Given the description of an element on the screen output the (x, y) to click on. 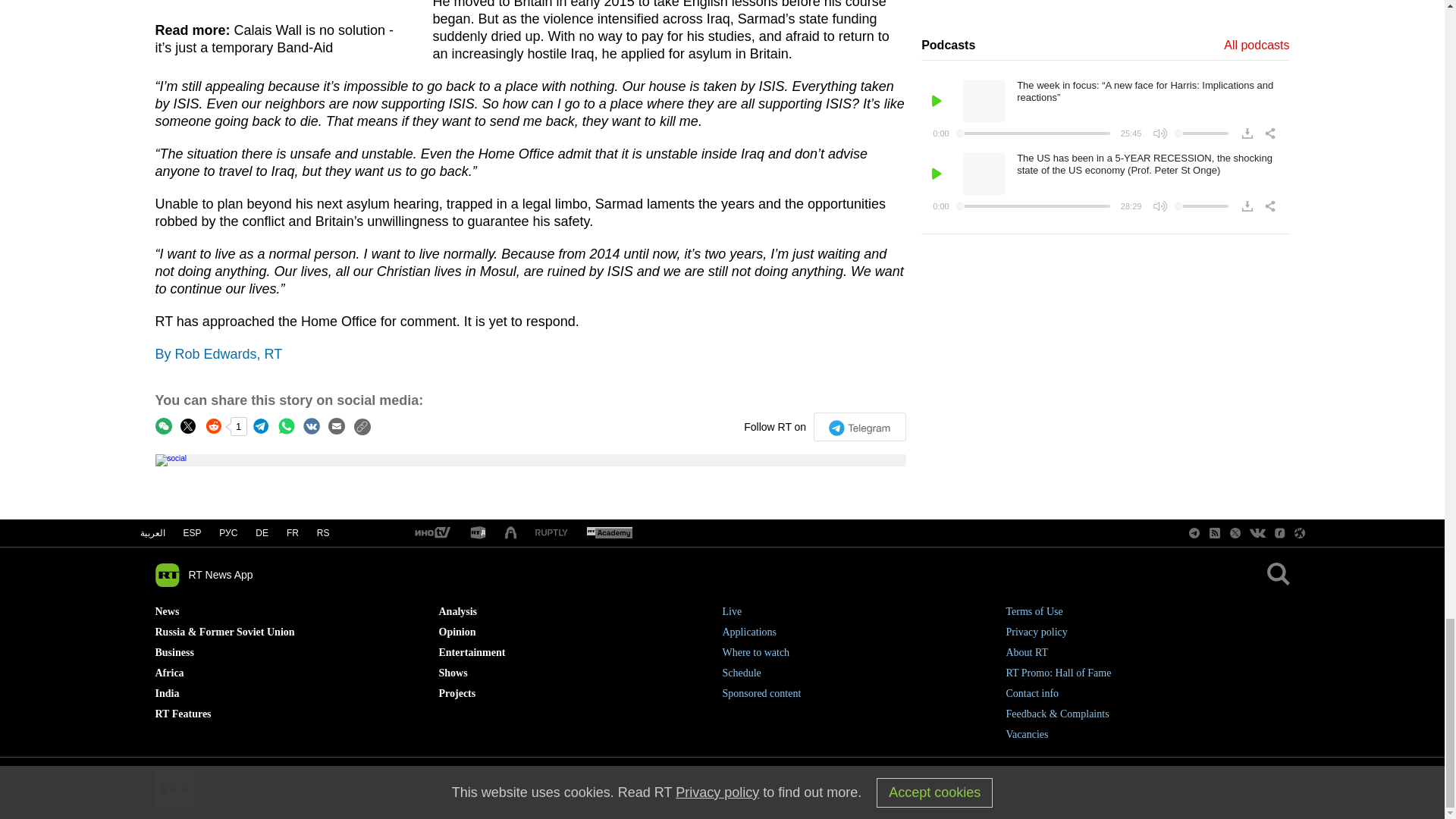
RT  (478, 533)
RT  (551, 533)
RT  (431, 533)
RT  (608, 533)
